Given the description of an element on the screen output the (x, y) to click on. 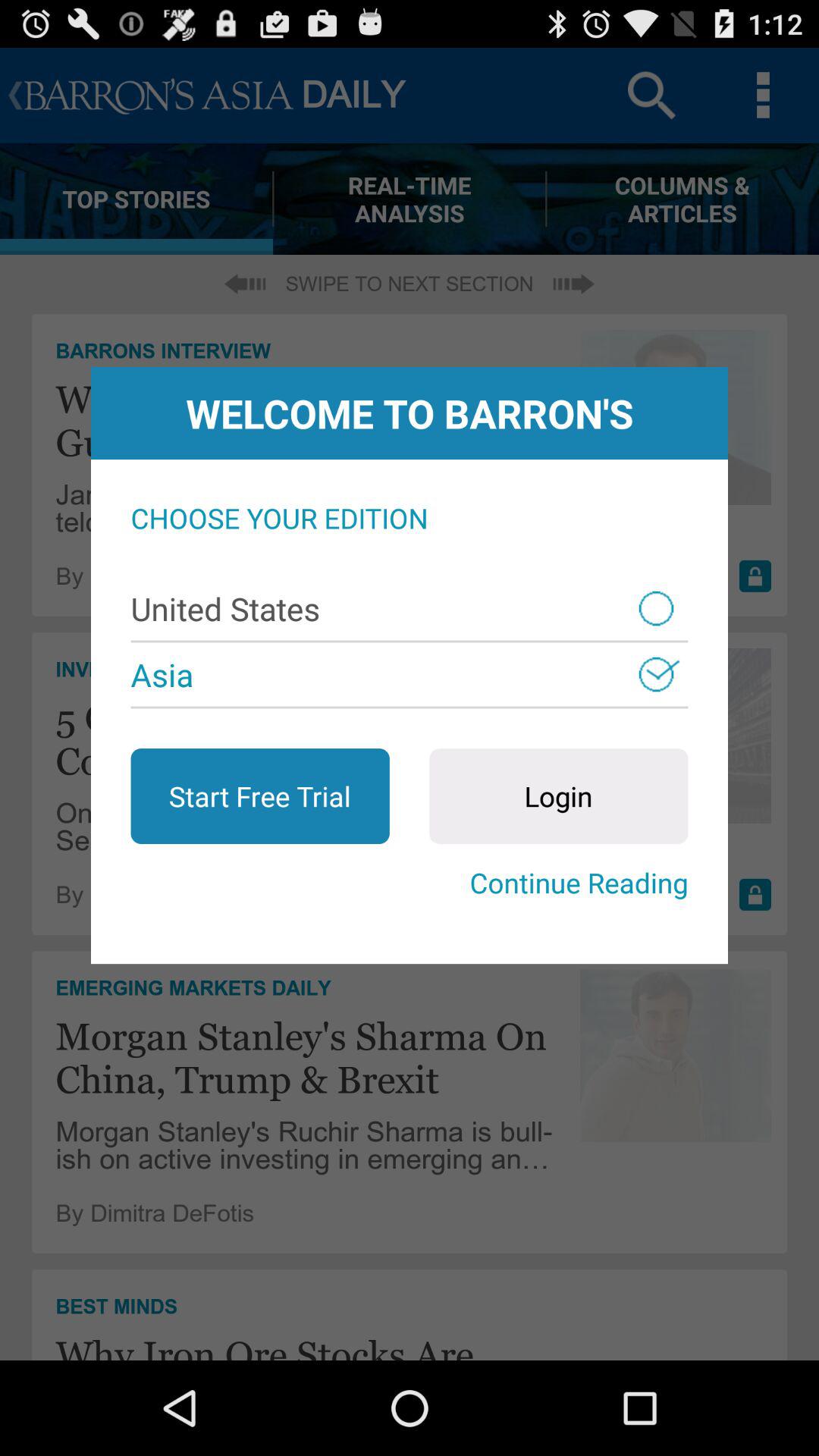
flip until continue reading icon (409, 882)
